Given the description of an element on the screen output the (x, y) to click on. 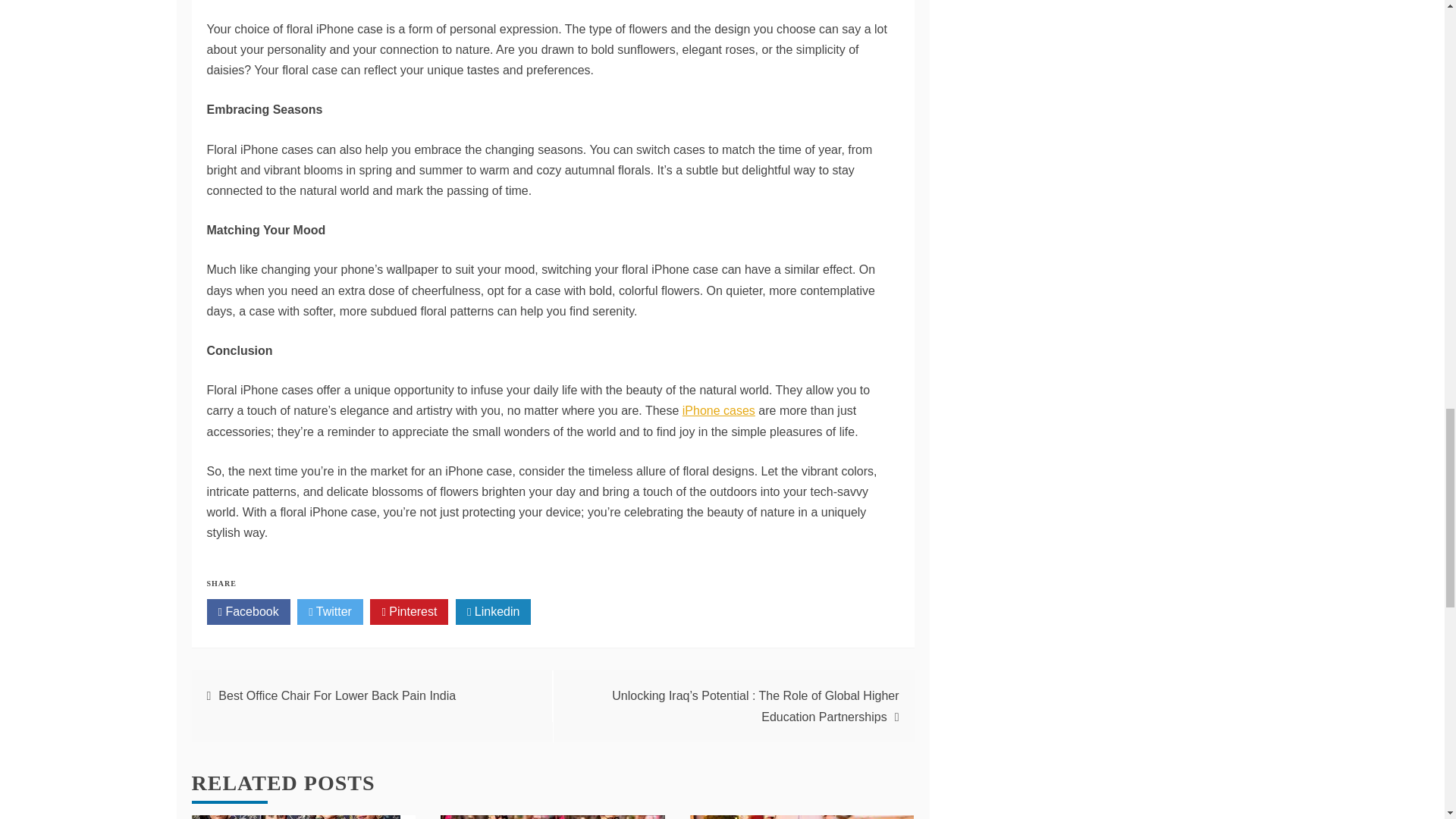
Facebook (247, 611)
Linkedin (493, 611)
Best Office Chair For Lower Back Pain India (336, 695)
Pinterest (408, 611)
Twitter (329, 611)
iPhone cases (718, 410)
